Given the description of an element on the screen output the (x, y) to click on. 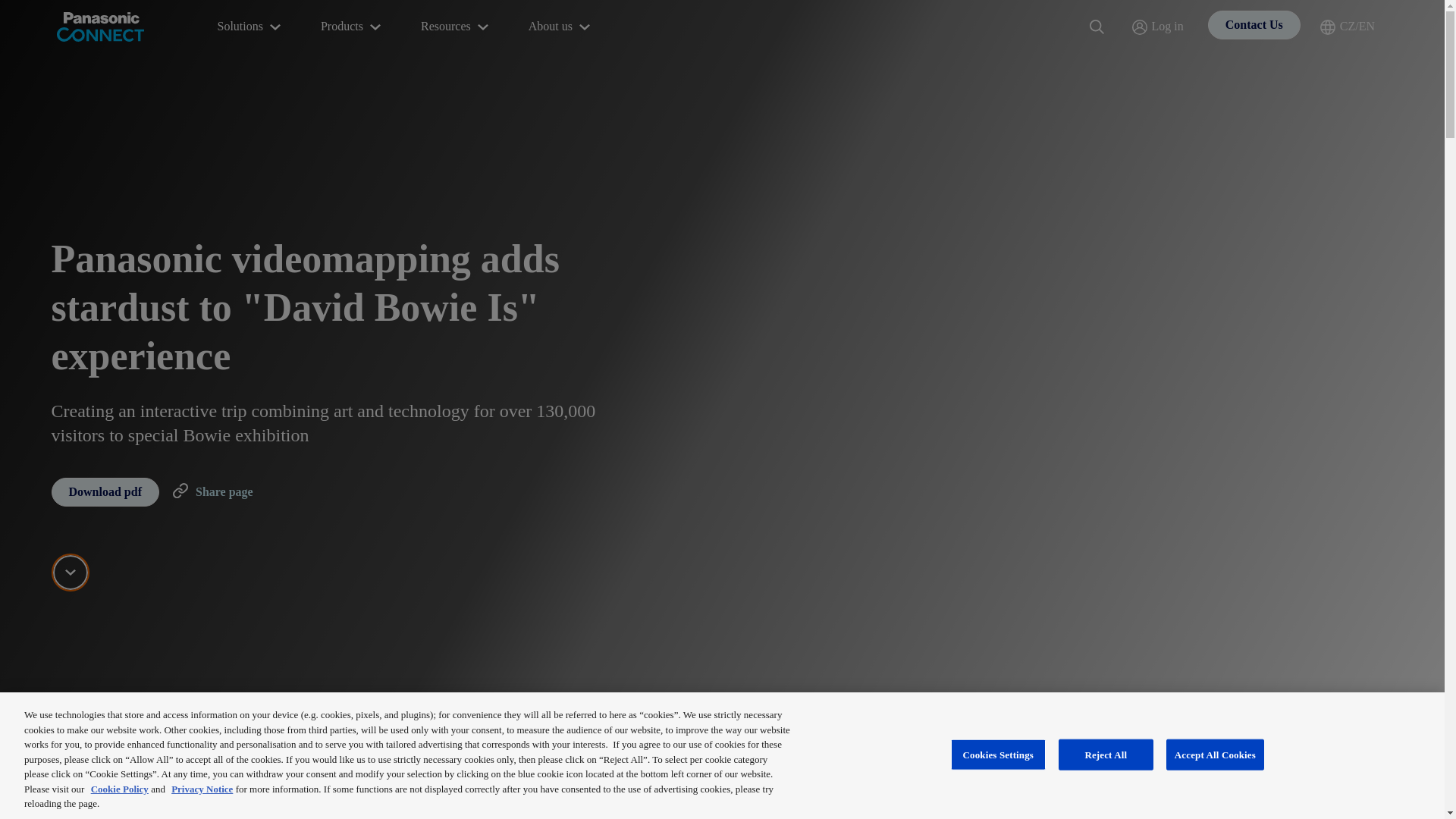
Solutions (250, 26)
Resources (455, 26)
About us (560, 26)
Products (352, 26)
